Given the description of an element on the screen output the (x, y) to click on. 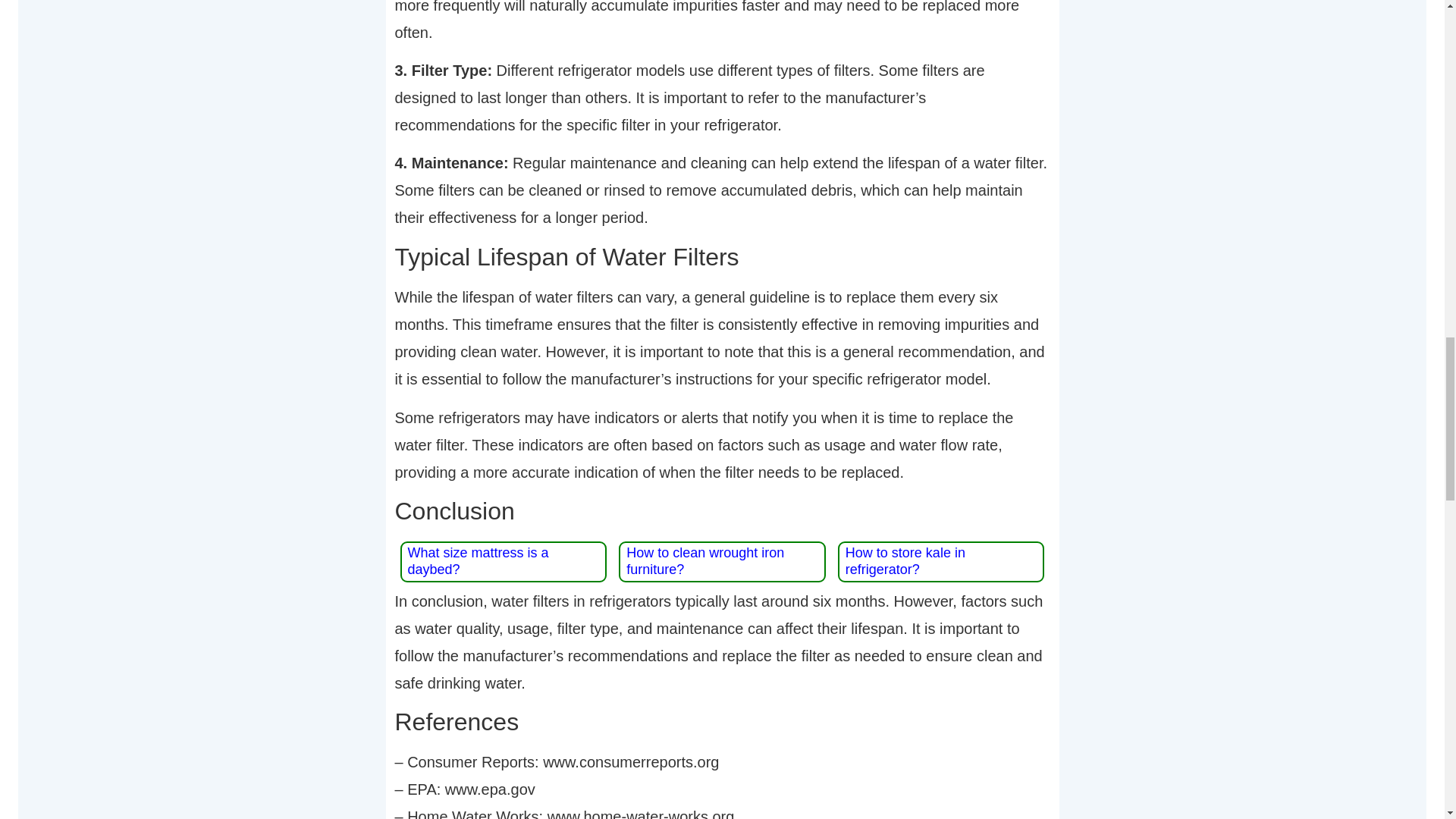
Conclusion (721, 510)
How to clean wrought iron furniture? (705, 561)
References (721, 721)
What size mattress is a daybed? (477, 561)
How to store kale in refrigerator? (905, 561)
Typical Lifespan of Water Filters (721, 256)
